Given the description of an element on the screen output the (x, y) to click on. 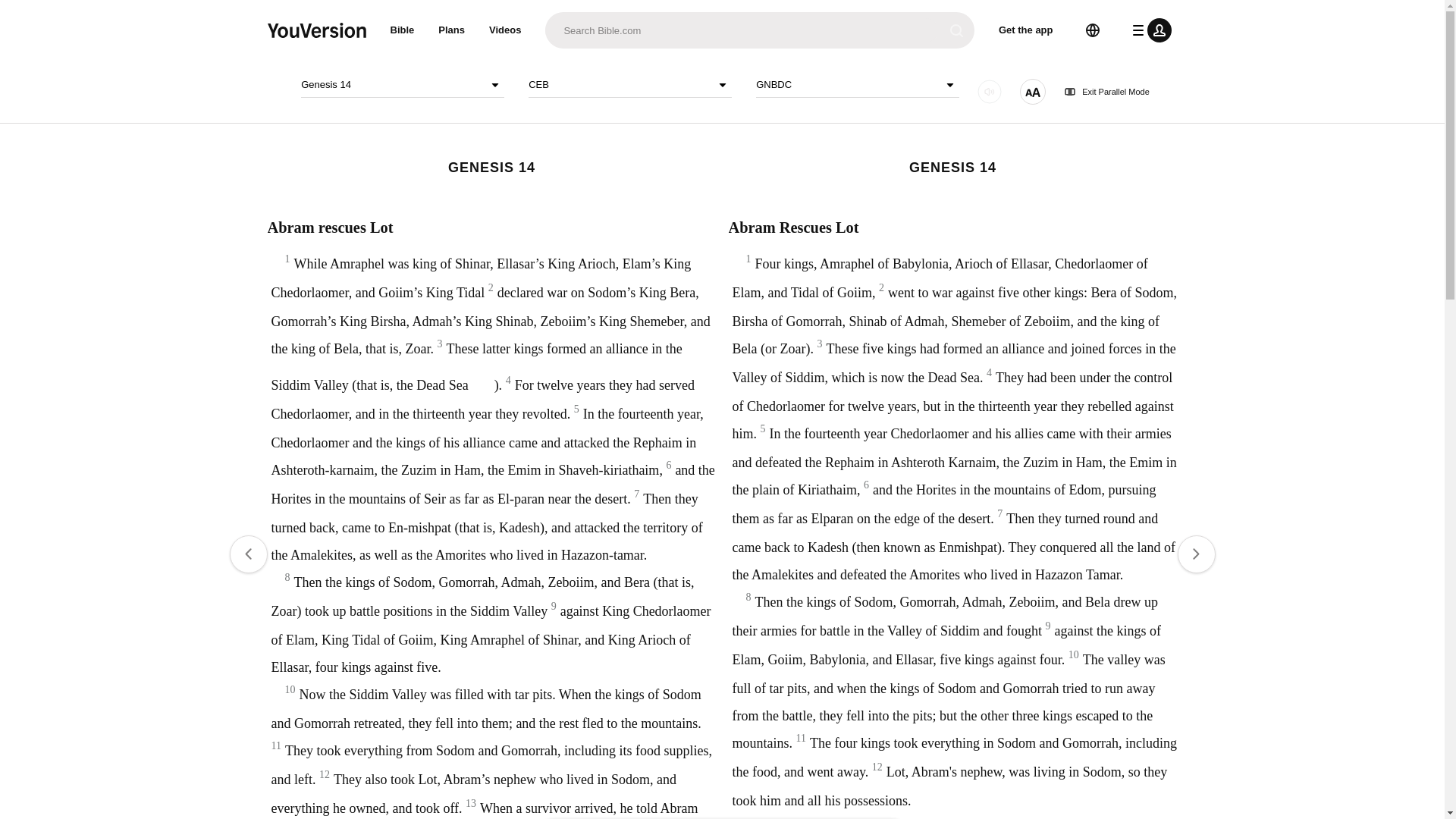
Videos (504, 29)
GNBDC (857, 84)
Plans (451, 29)
Get the app (1026, 29)
Genesis 14 (402, 84)
Bible (401, 29)
CEB (630, 84)
Exit Parallel Mode (1107, 91)
